Given the description of an element on the screen output the (x, y) to click on. 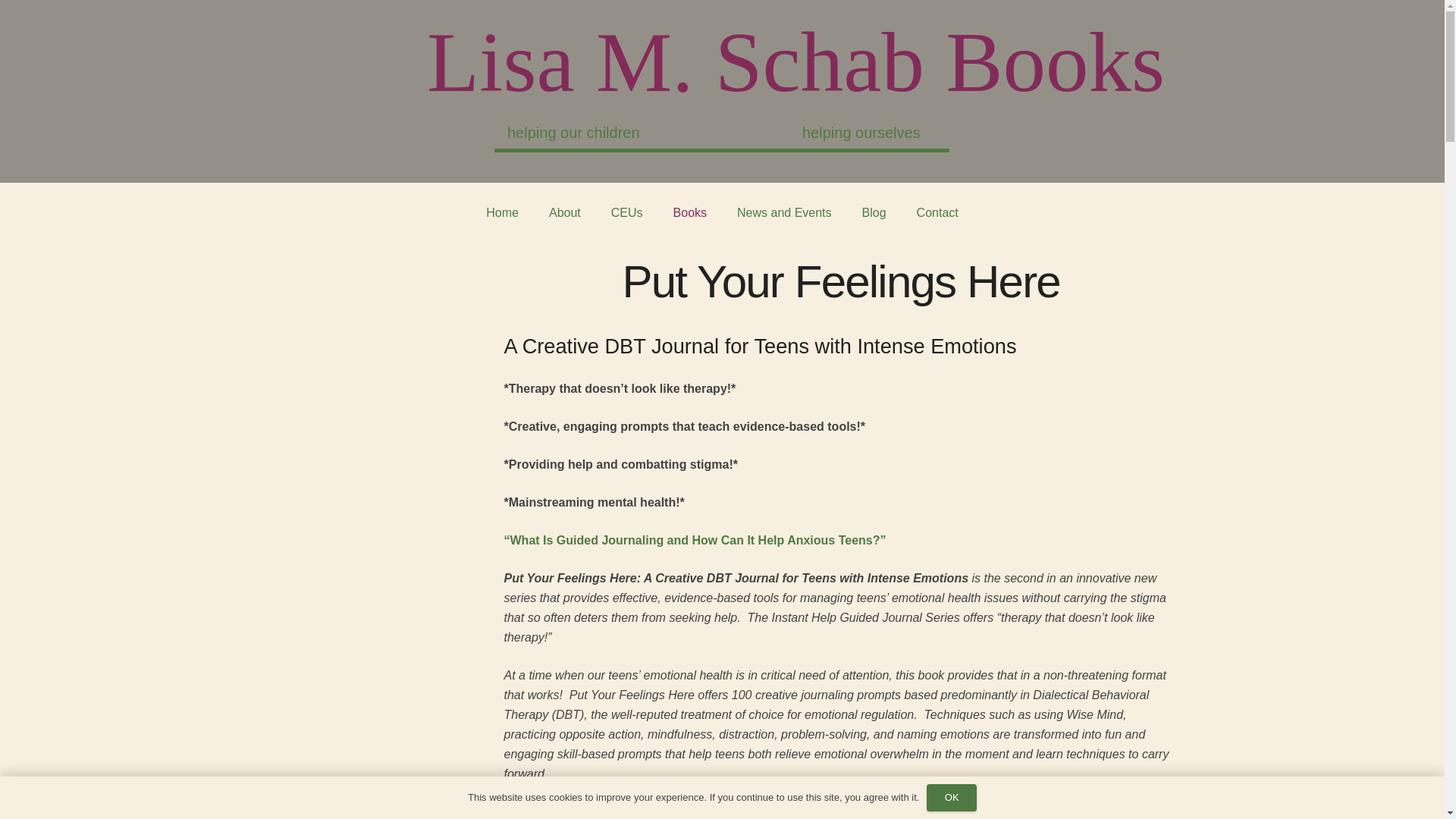
Blog (874, 212)
Contact (937, 212)
Books (690, 212)
About (564, 212)
News and Events (784, 212)
Home (502, 212)
CEUs (626, 212)
